Given the description of an element on the screen output the (x, y) to click on. 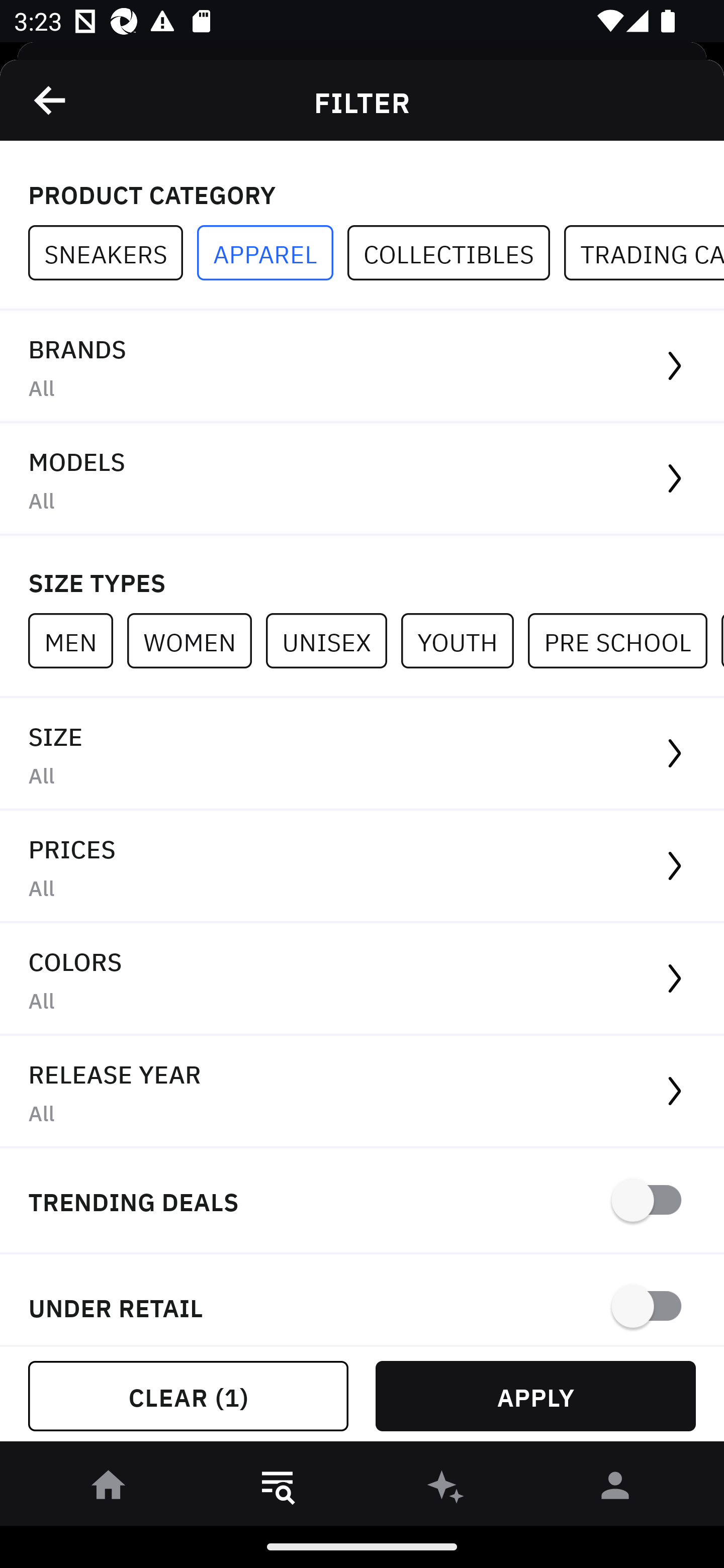
 (50, 100)
SNEAKERS (112, 252)
APPAREL (271, 252)
COLLECTIBLES (455, 252)
TRADING CARDS (643, 252)
BRANDS All (362, 366)
MODELS All (362, 479)
MEN (77, 640)
WOMEN (196, 640)
UNISEX (333, 640)
YOUTH (464, 640)
PRE SCHOOL (624, 640)
SIZE All (362, 753)
PRICES All (362, 866)
COLORS All (362, 979)
RELEASE YEAR All (362, 1091)
TRENDING DEALS (362, 1200)
UNDER RETAIL (362, 1299)
CLEAR (1) (188, 1396)
APPLY (535, 1396)
󰋜 (108, 1488)
󱎸 (277, 1488)
󰫢 (446, 1488)
󰀄 (615, 1488)
